Given the description of an element on the screen output the (x, y) to click on. 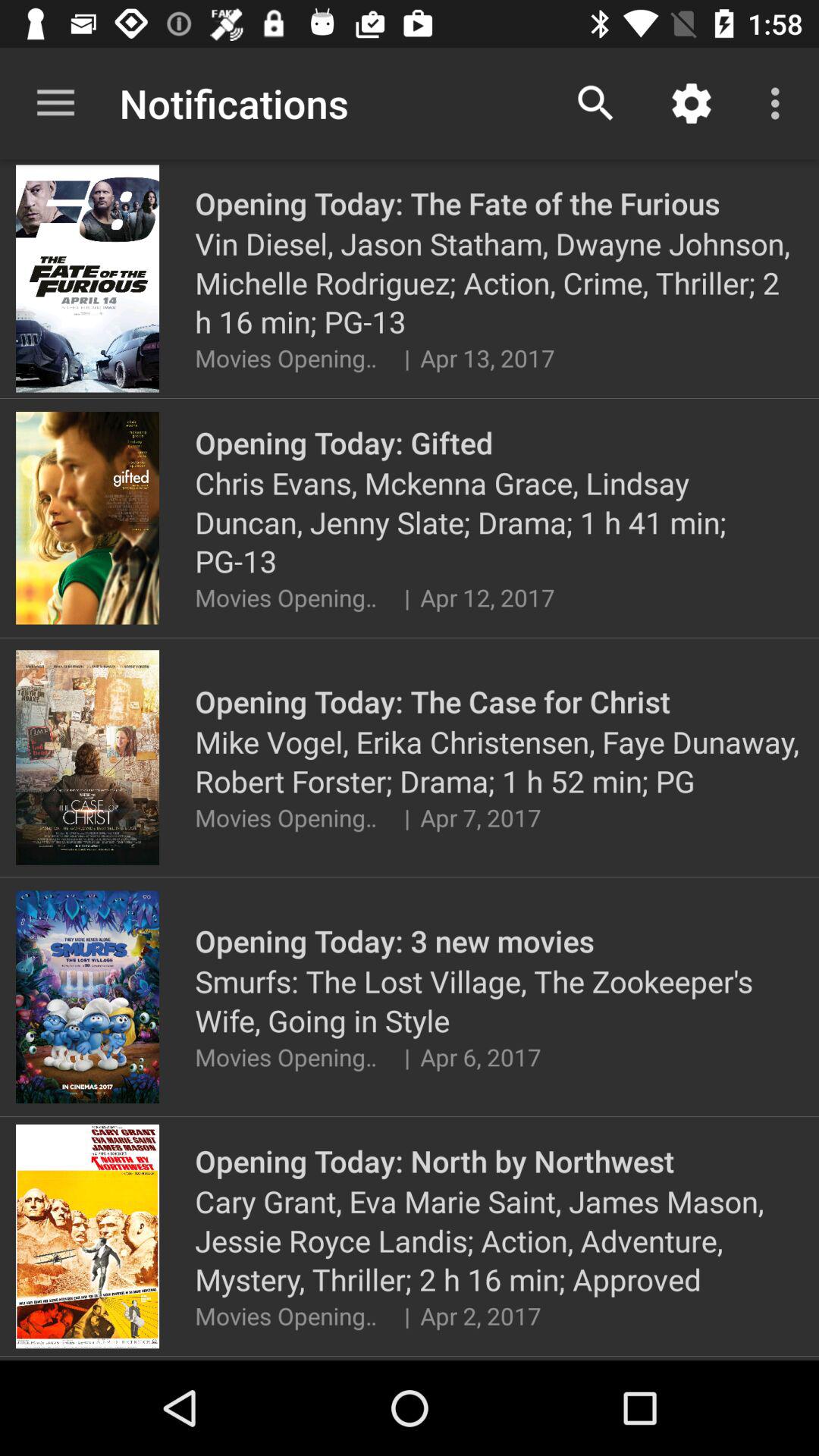
click the | item (407, 817)
